Given the description of an element on the screen output the (x, y) to click on. 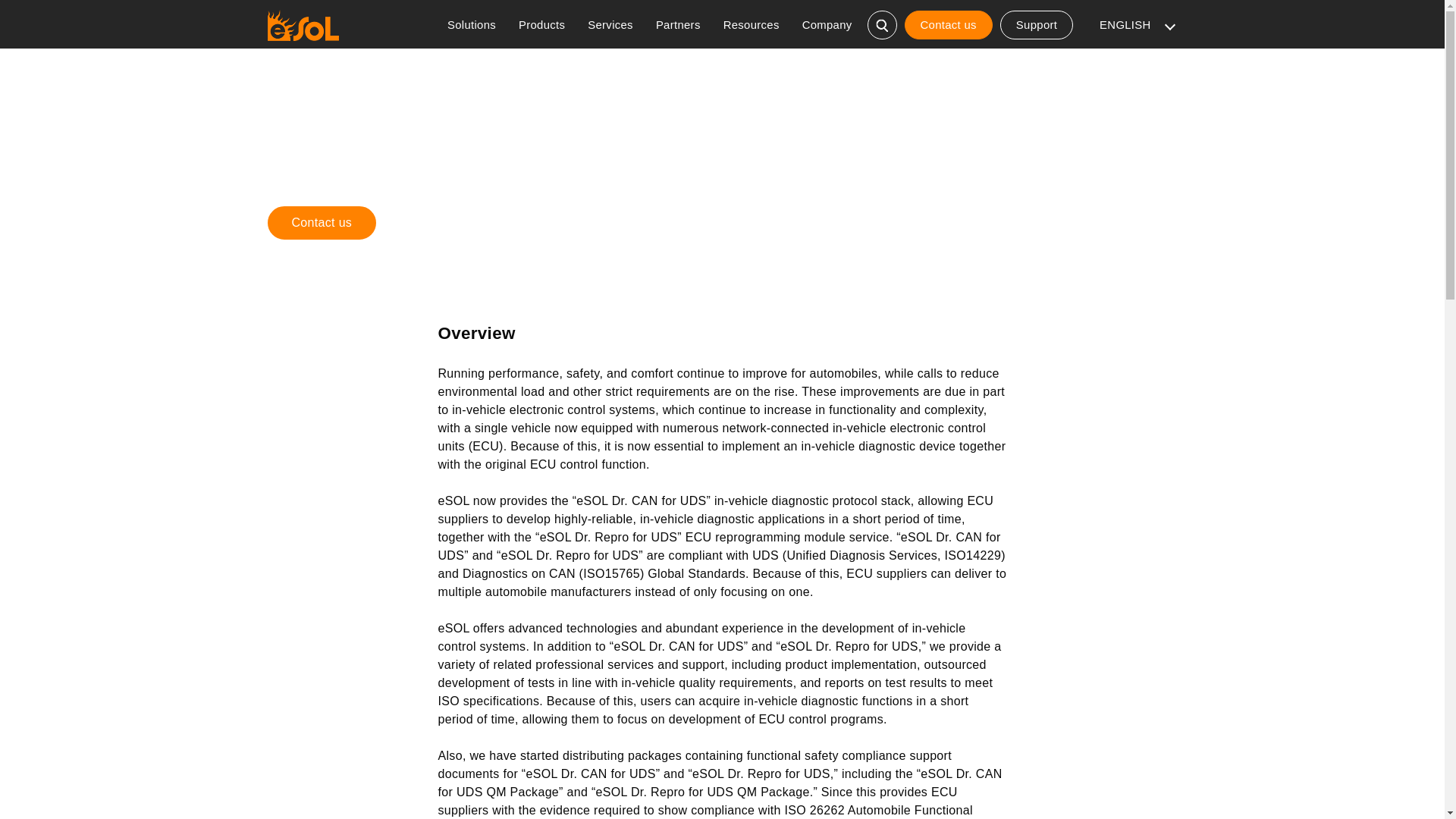
Partners (678, 24)
Products (541, 24)
Solutions (470, 24)
Resources (750, 24)
Services (610, 24)
